Given the description of an element on the screen output the (x, y) to click on. 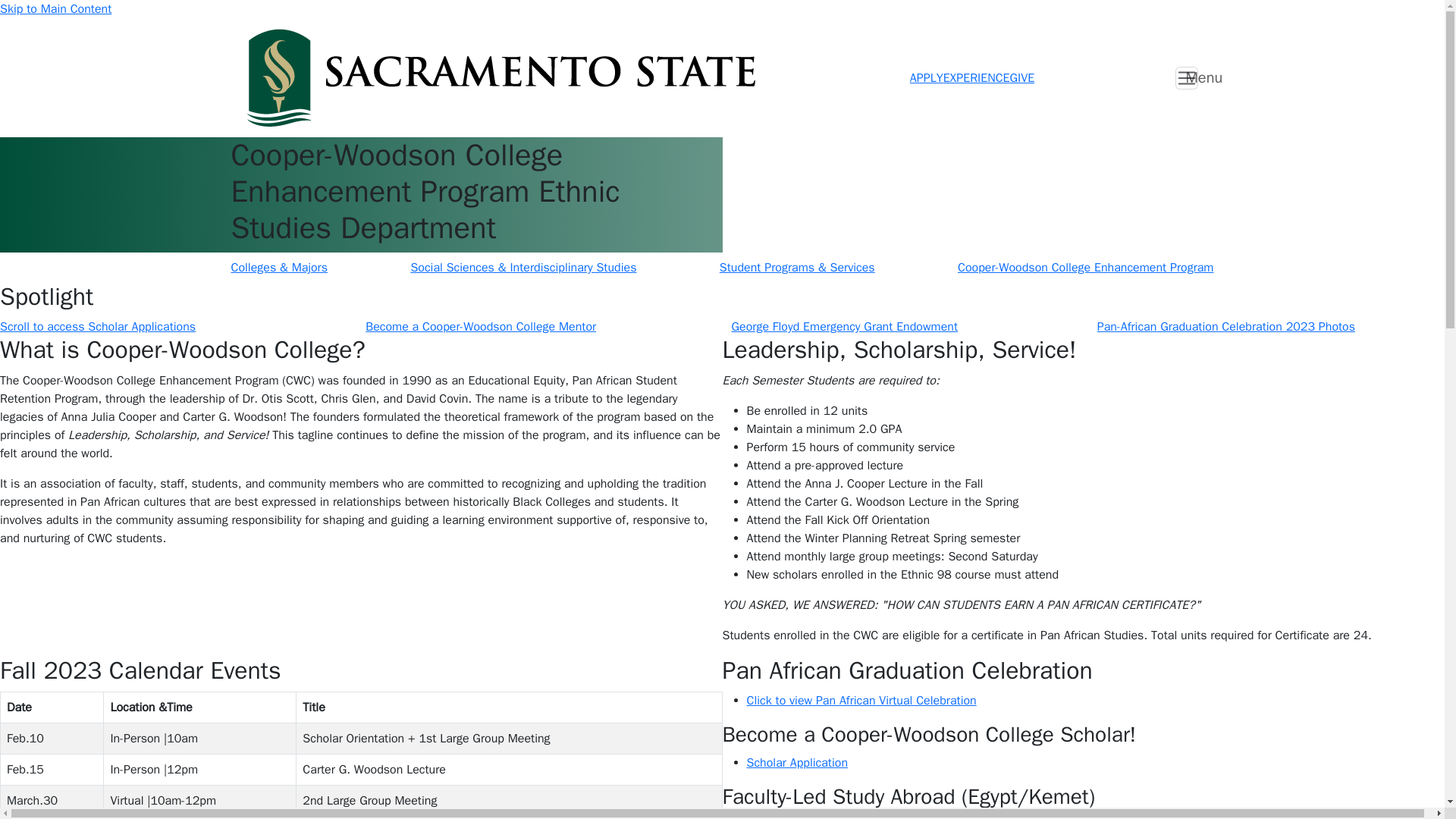
Menu (1186, 77)
GIVE (1022, 77)
APPLY (926, 77)
Anchor is: fall-2023-calendar-events-table-quadrant3 (361, 670)
Anchor is: leadership-scholarship-service-generic-quadrant2 (1083, 349)
EXPERIENCE (976, 77)
Anchor is: what-is-cooper-woodson-college-generic-quadrant1 (361, 349)
Skip to Main Content (56, 8)
